Given the description of an element on the screen output the (x, y) to click on. 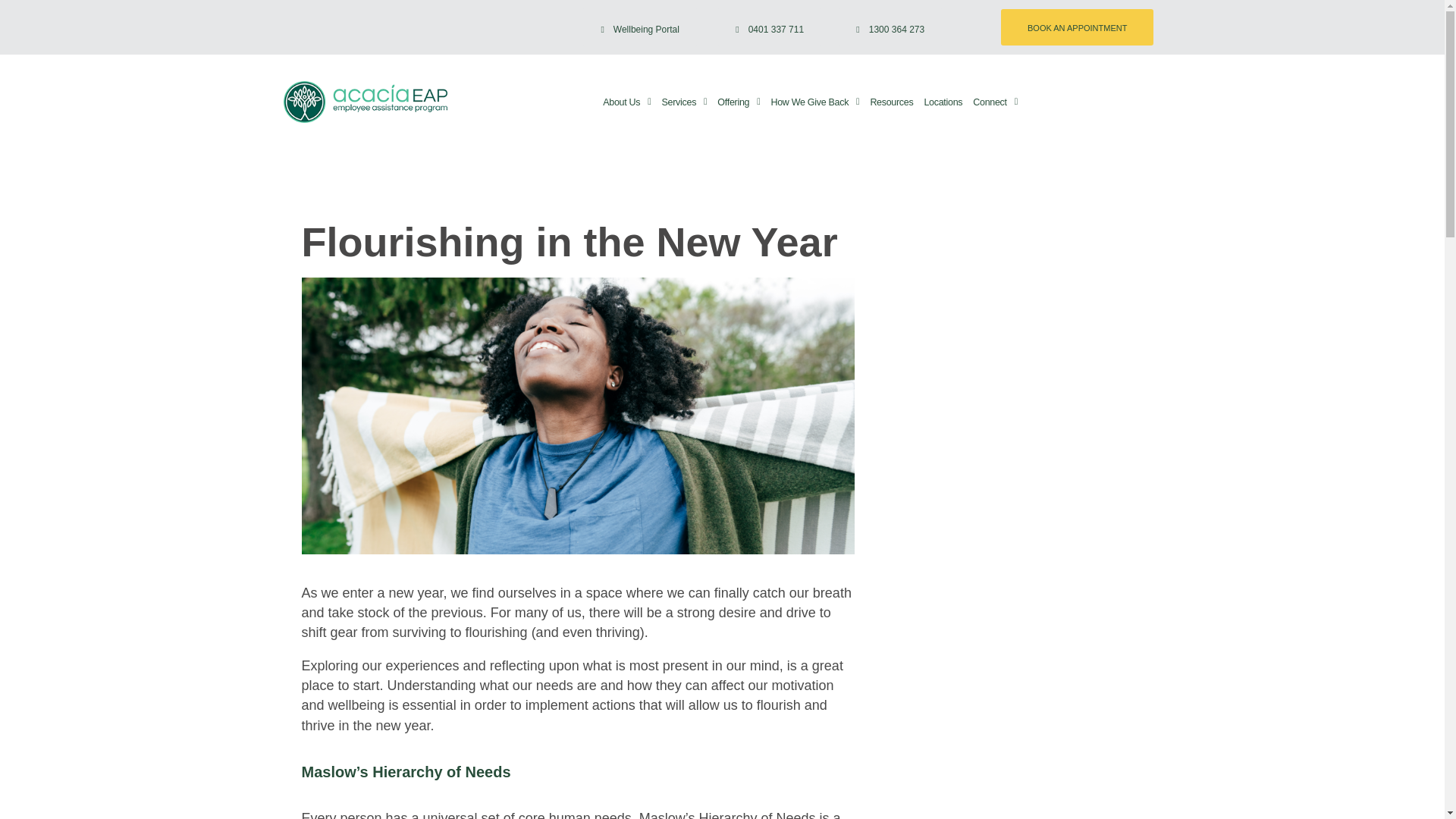
How We Give Back (814, 102)
Connect (995, 102)
BOOK AN APPOINTMENT (1077, 27)
Locations (943, 102)
Resources (891, 102)
About Us (626, 102)
Services (684, 102)
1300 364 273 (890, 26)
0401 337 711 (769, 26)
Wellbeing Portal (640, 26)
